Given the description of an element on the screen output the (x, y) to click on. 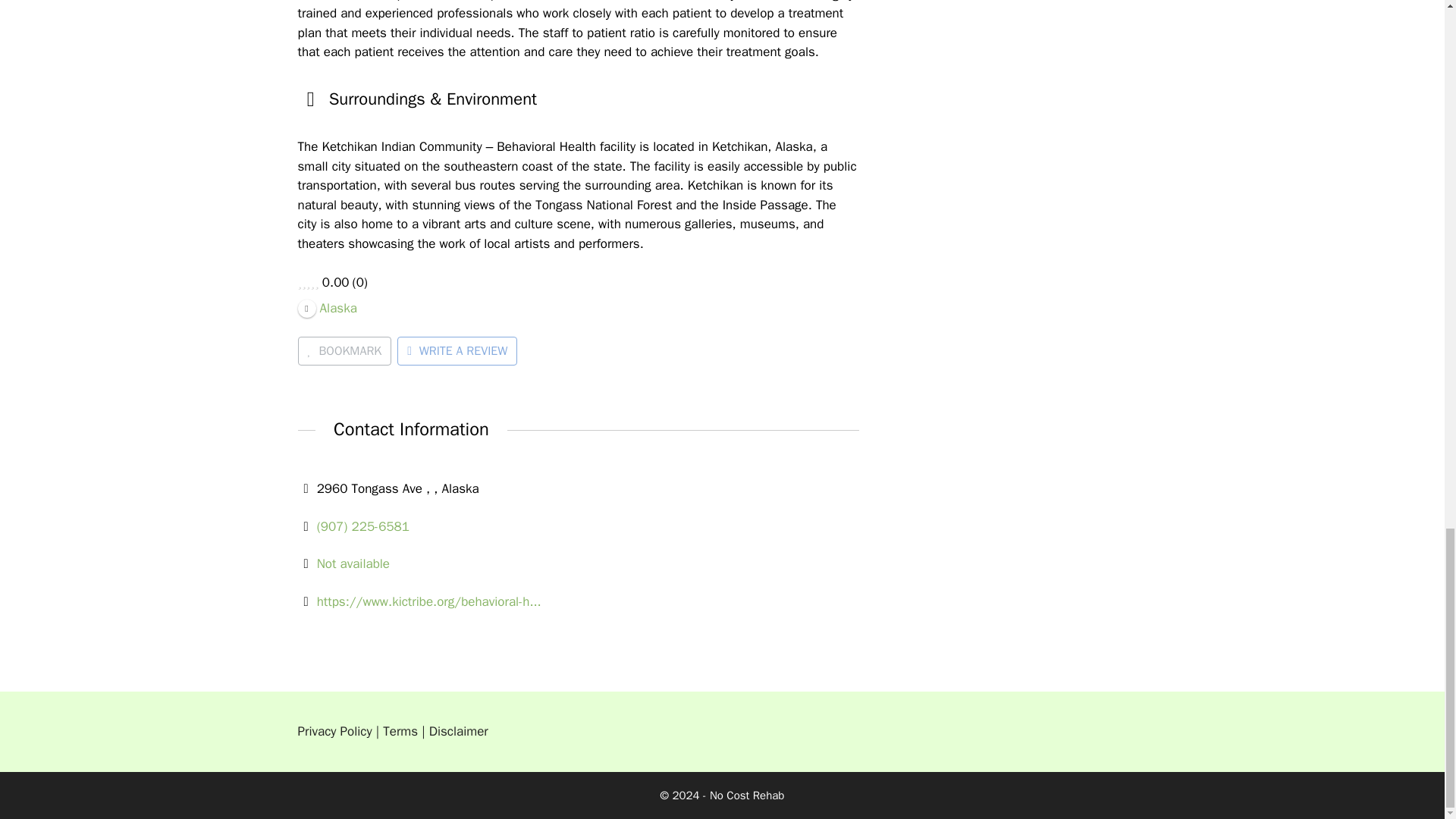
Alaska (326, 307)
